Given the description of an element on the screen output the (x, y) to click on. 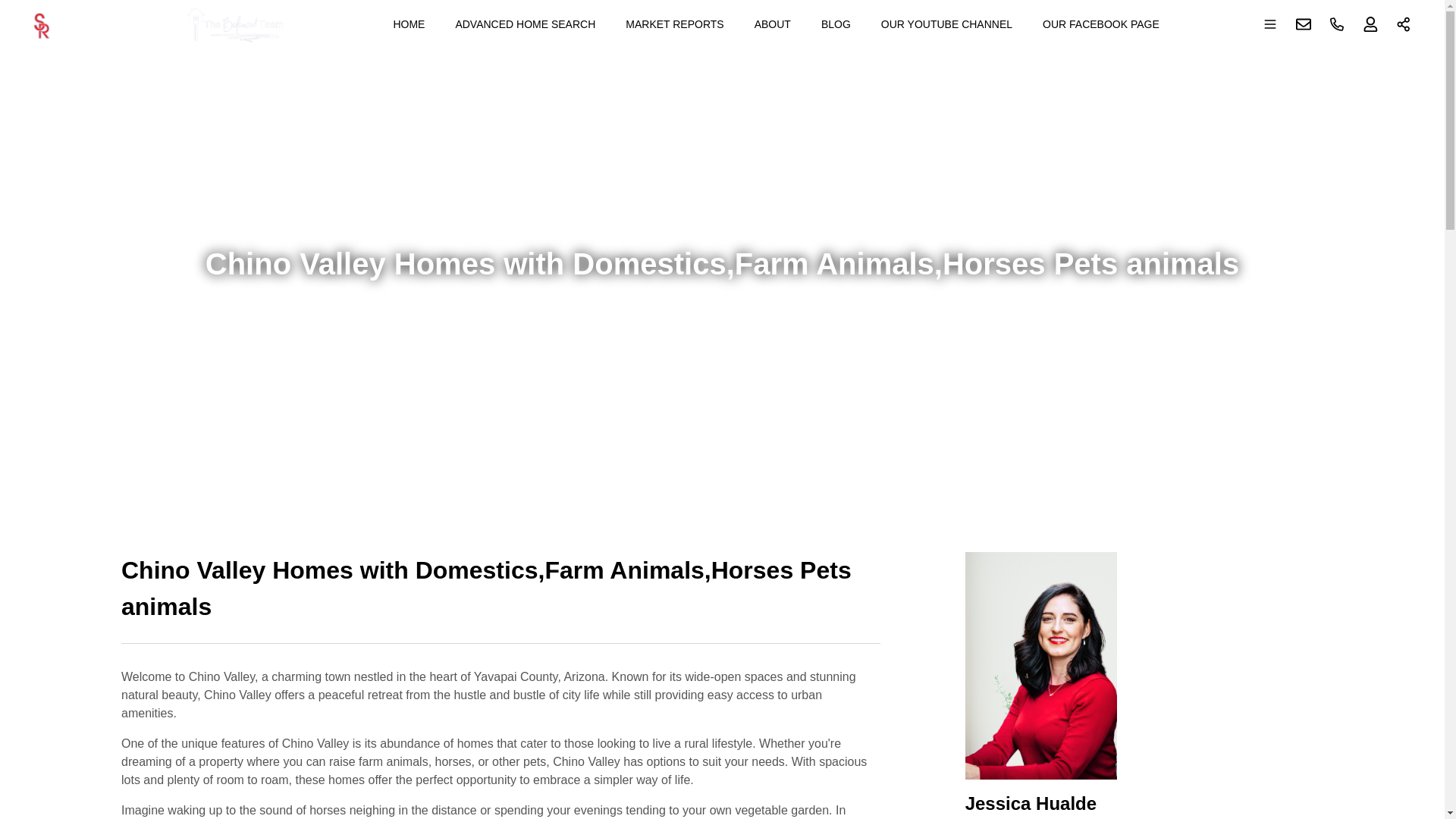
Sign up or Sign in (1370, 23)
HOME (408, 24)
Open main menu (1270, 23)
OUR FACEBOOK PAGE (1101, 24)
Phone number (1337, 23)
BLOG (836, 24)
Prescottrealestateandliving.com (165, 24)
ABOUT (772, 24)
Share (1404, 23)
